Given the description of an element on the screen output the (x, y) to click on. 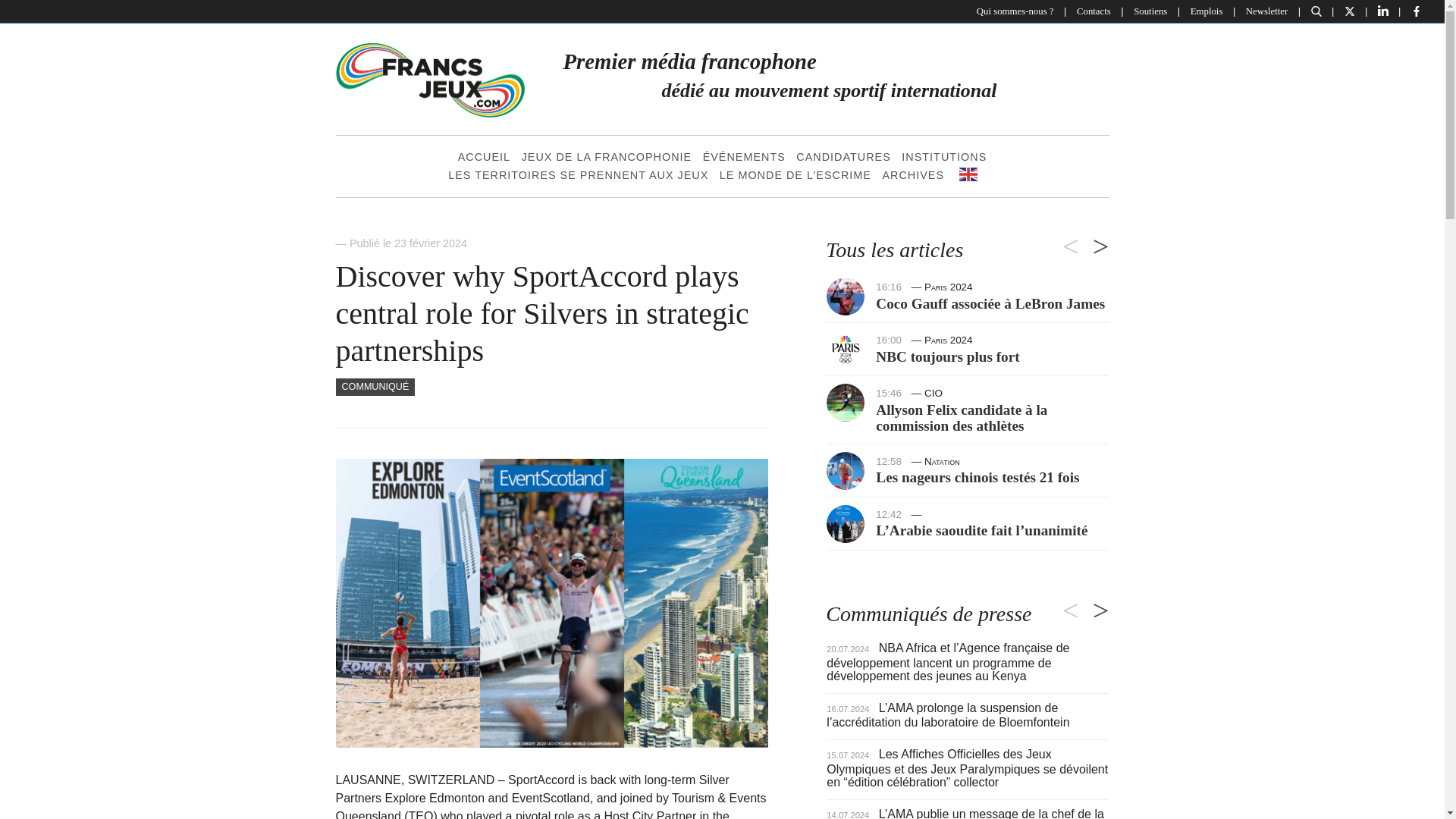
Qui sommes-nous ? (1015, 10)
INSTITUTIONS (944, 157)
Soutiens (1149, 10)
LES TERRITOIRES SE PRENNENT AUX JEUX (577, 175)
Emplois (1206, 10)
JEUX DE LA FRANCOPHONIE (606, 157)
English (976, 174)
ACCUEIL (483, 157)
Newsletter (1267, 10)
ARCHIVES (912, 175)
CANDIDATURES (843, 157)
Contacts (1093, 10)
